Given the description of an element on the screen output the (x, y) to click on. 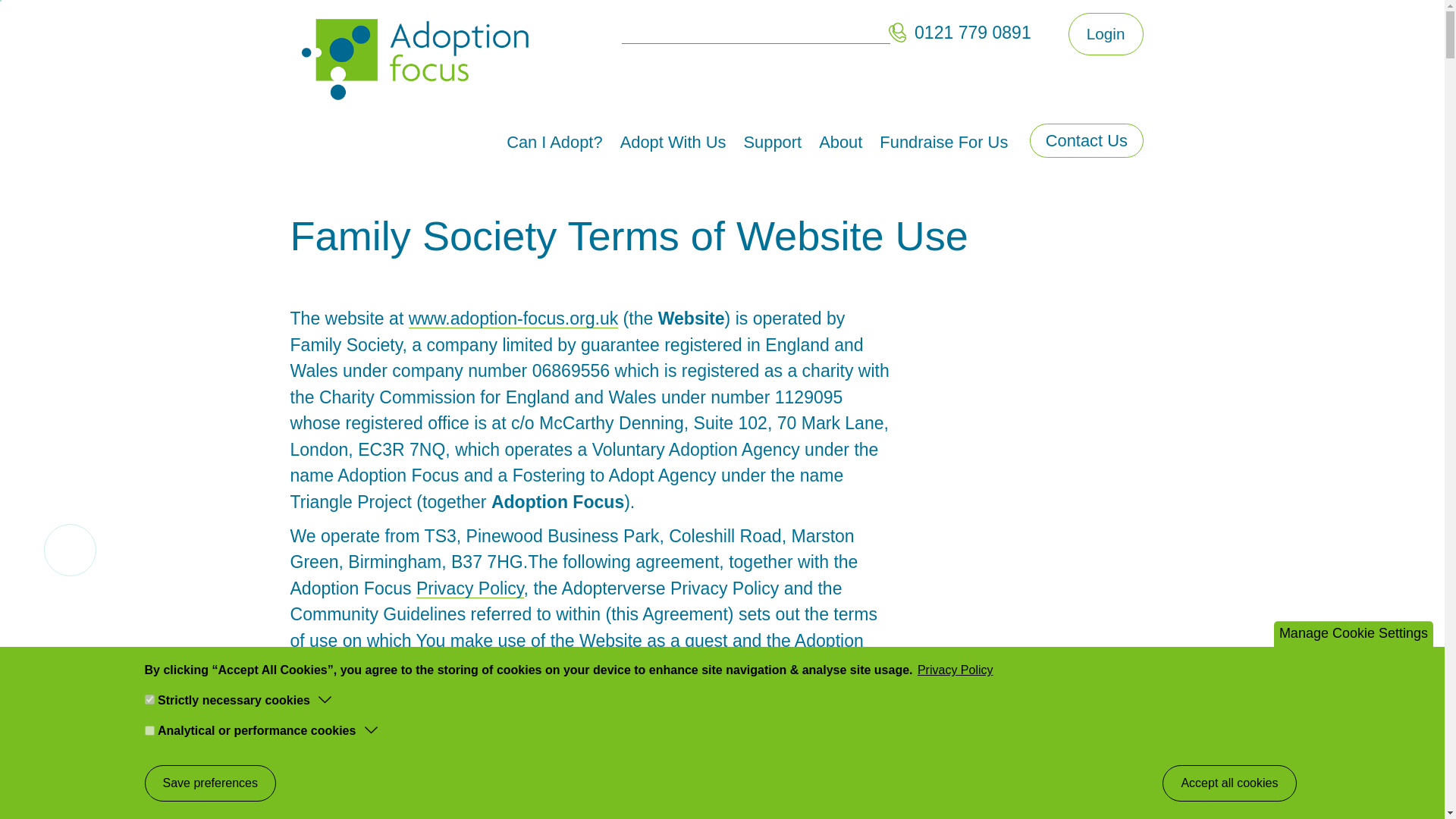
Adopt With Us (664, 142)
Home (420, 58)
www.adoption-focus.org.uk (513, 318)
Manage Cookie Settings (1353, 633)
Support (763, 142)
Fundraise For Us (934, 142)
Cookie Policy (395, 666)
Privacy Policy (470, 588)
Accept all cookies (1228, 782)
Can I Adopt? (545, 142)
analytical (149, 730)
About (831, 142)
Contact Us (1085, 140)
Apply (899, 27)
